Given the description of an element on the screen output the (x, y) to click on. 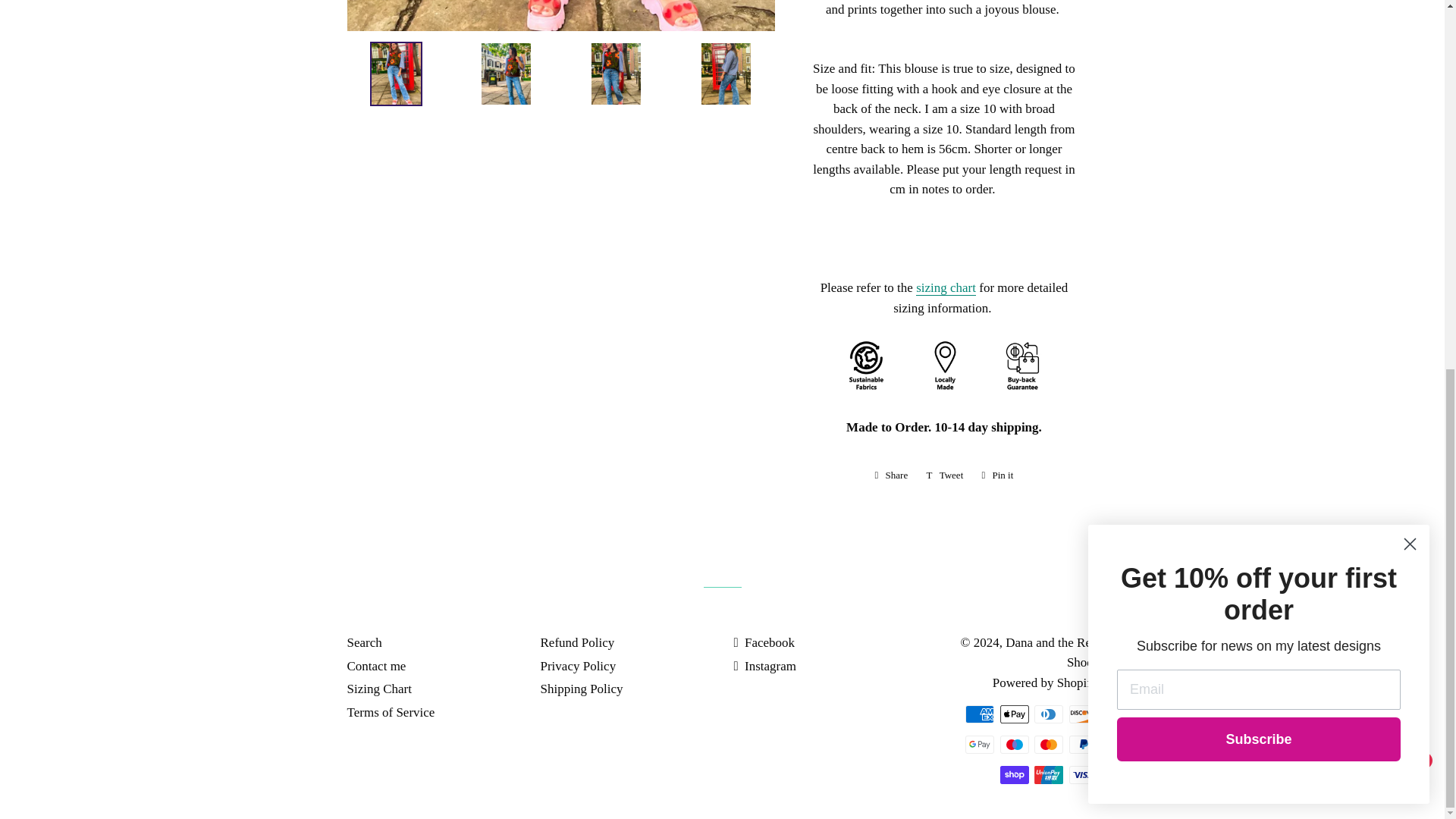
Pin on Pinterest (997, 475)
Discover (1082, 714)
Mastercard (1047, 744)
Visa (1082, 774)
Sizing Chart (945, 287)
Dana and the Red Shoes on Facebook (763, 642)
Shop Pay (1012, 774)
Share on Facebook (891, 475)
Tweet on Twitter (944, 475)
Union Pay (1047, 774)
Apple Pay (1012, 714)
Google Pay (979, 744)
Shopify online store chat (1404, 112)
Diners Club (1047, 714)
American Express (979, 714)
